Given the description of an element on the screen output the (x, y) to click on. 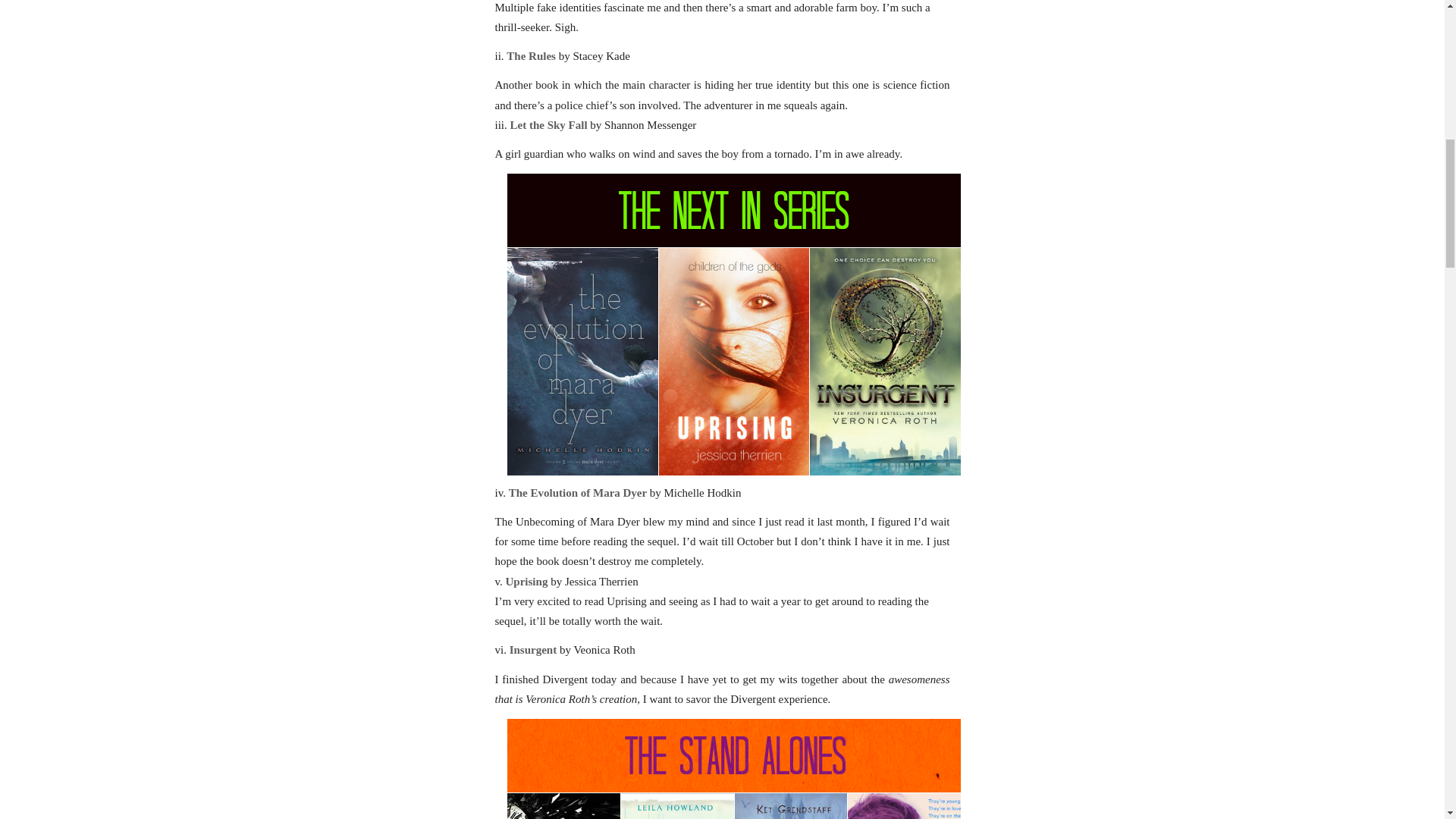
The Evolution of Mara Dyer (577, 492)
Let the Sky Fall (549, 124)
The Rules (531, 55)
